Given the description of an element on the screen output the (x, y) to click on. 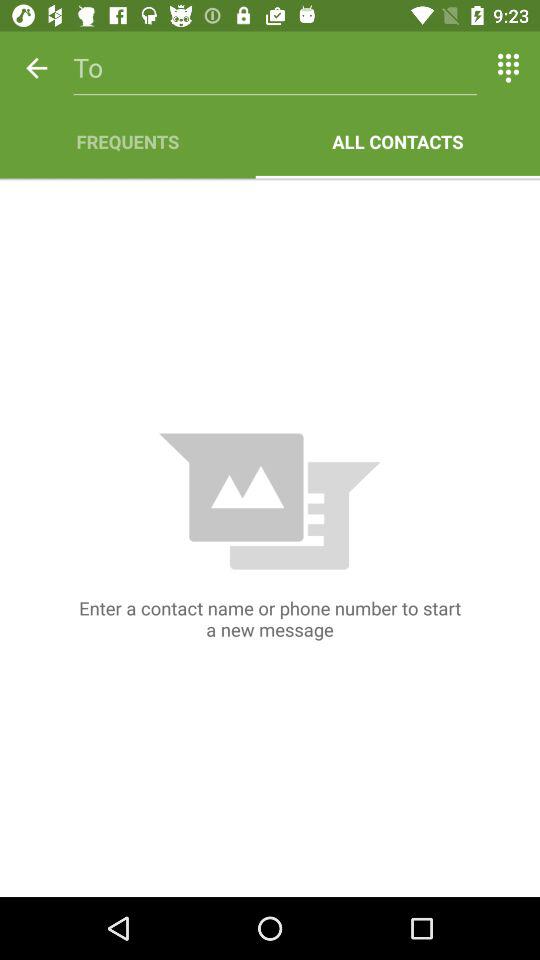
turn on icon to the left of the all contacts item (127, 141)
